Given the description of an element on the screen output the (x, y) to click on. 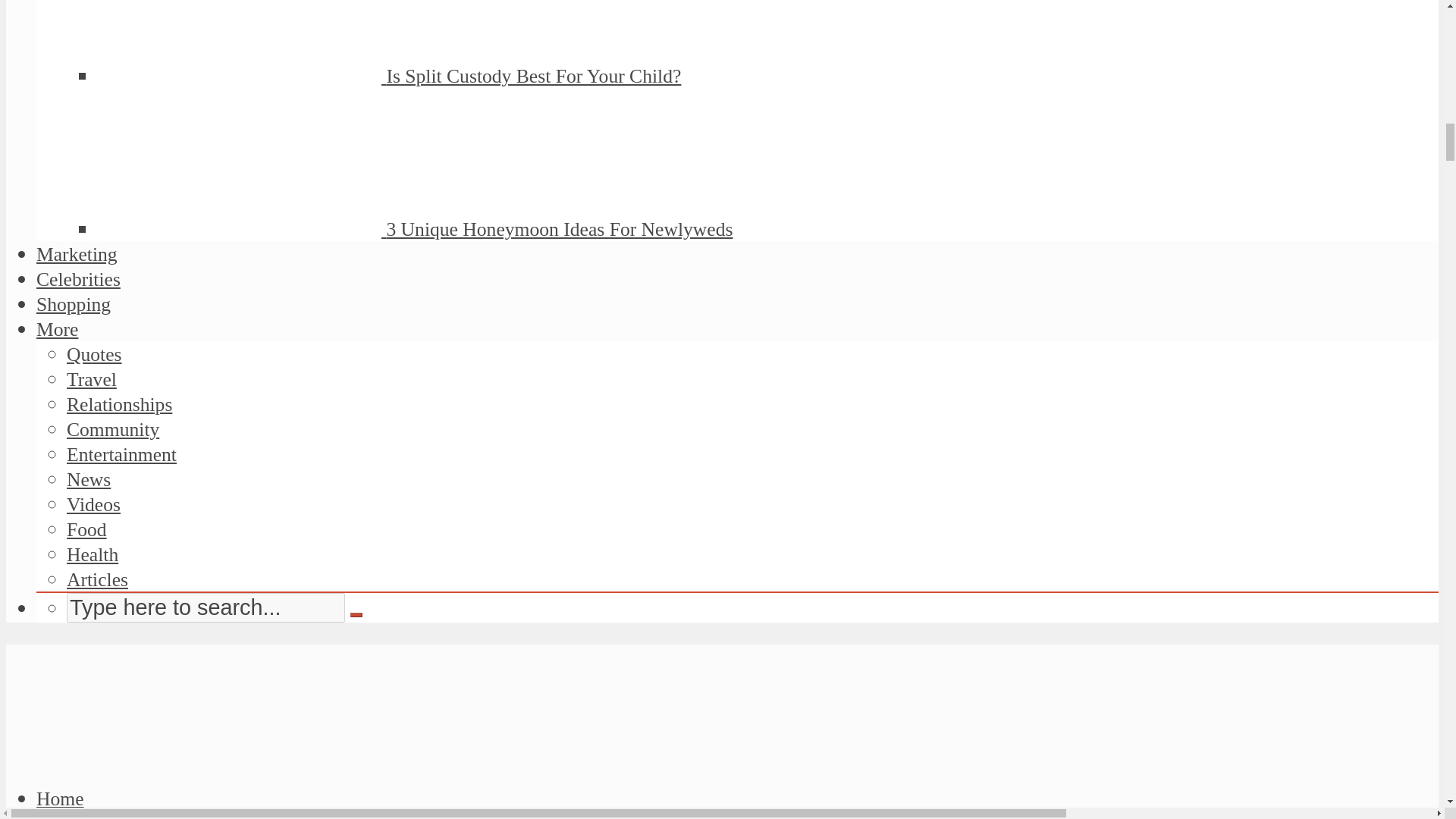
Is Split Custody Best For Your Child? (533, 75)
Type here to search... (205, 607)
Type here to search... (205, 607)
